Given the description of an element on the screen output the (x, y) to click on. 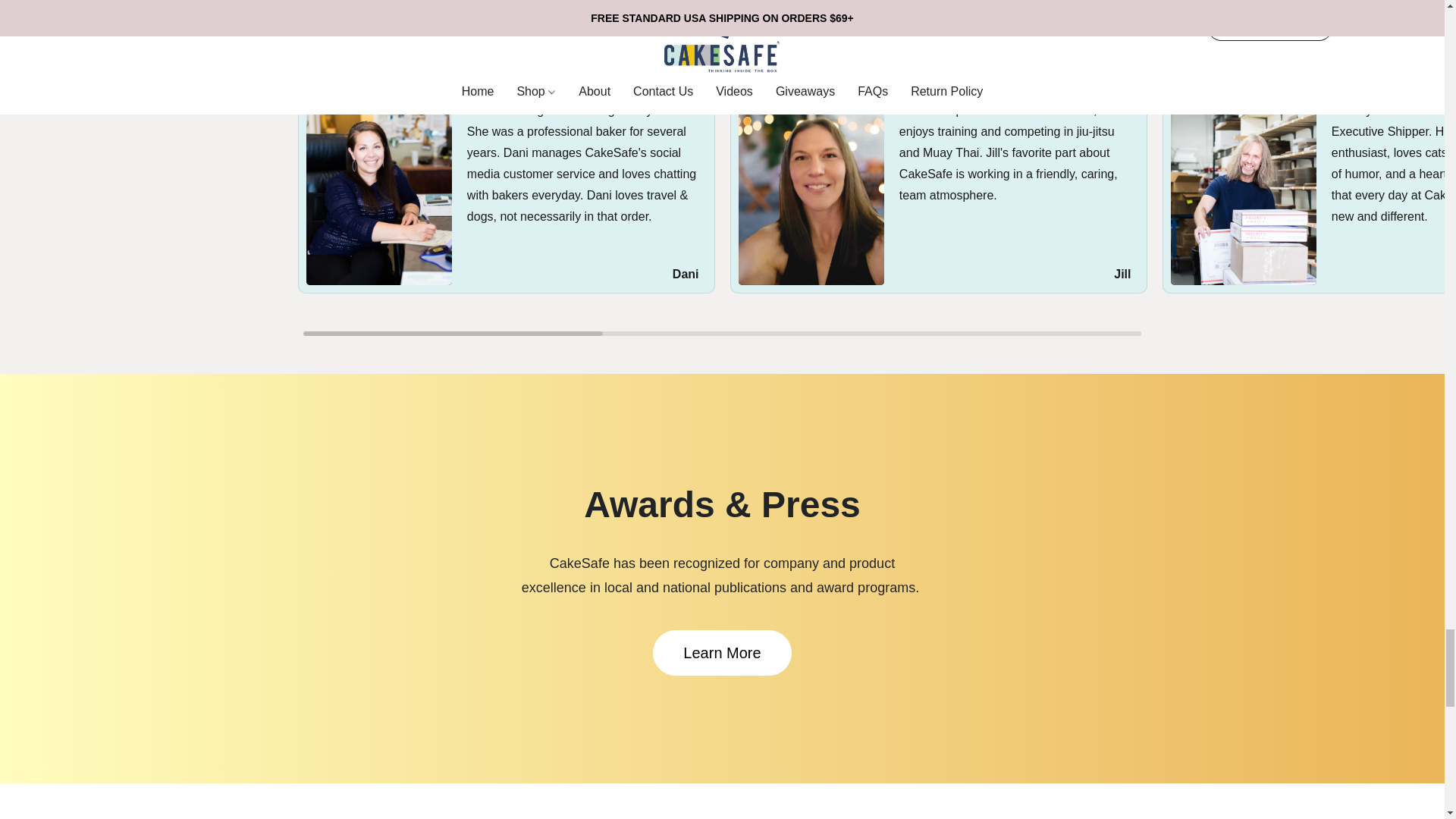
Learn More (721, 652)
